Given the description of an element on the screen output the (x, y) to click on. 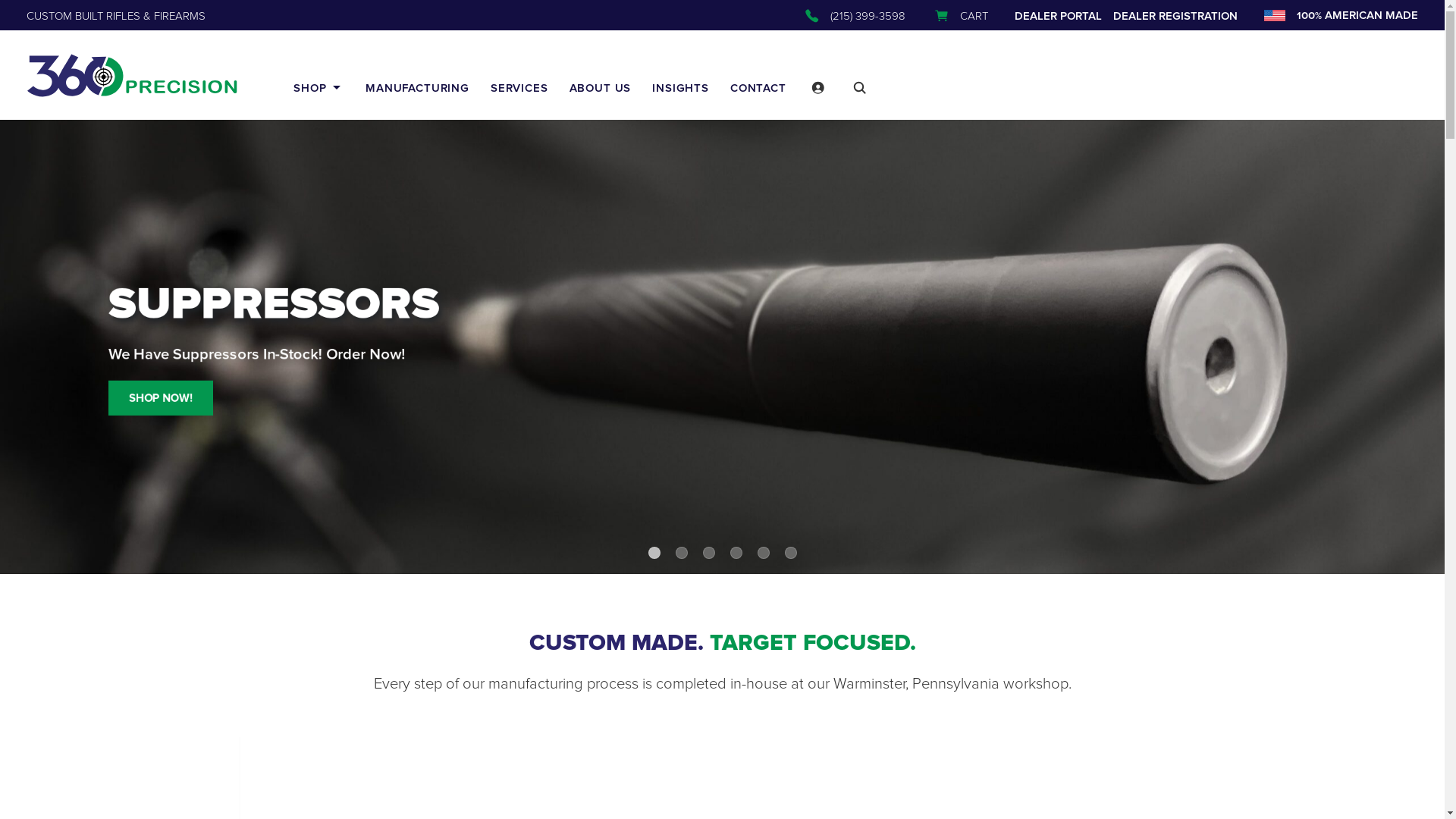
DEALER REGISTRATION Element type: text (1175, 15)
INSIGHTS Element type: text (680, 87)
360 Precision Element type: hover (131, 75)
MANUFACTURING Element type: text (417, 87)
CART Element type: text (959, 15)
SUPPRESSORS
We Have Suppressors In-Stock! Order Now! Element type: text (506, 321)
Search this site Element type: hover (859, 87)
SERVICES Element type: text (519, 87)
SHOP NOW! Element type: text (159, 398)
CONTACT Element type: text (758, 87)
DEALER PORTAL Element type: text (1057, 15)
SHOP Element type: text (318, 87)
ABOUT US Element type: text (600, 87)
(215) 399-3598 Element type: text (853, 15)
